Given the description of an element on the screen output the (x, y) to click on. 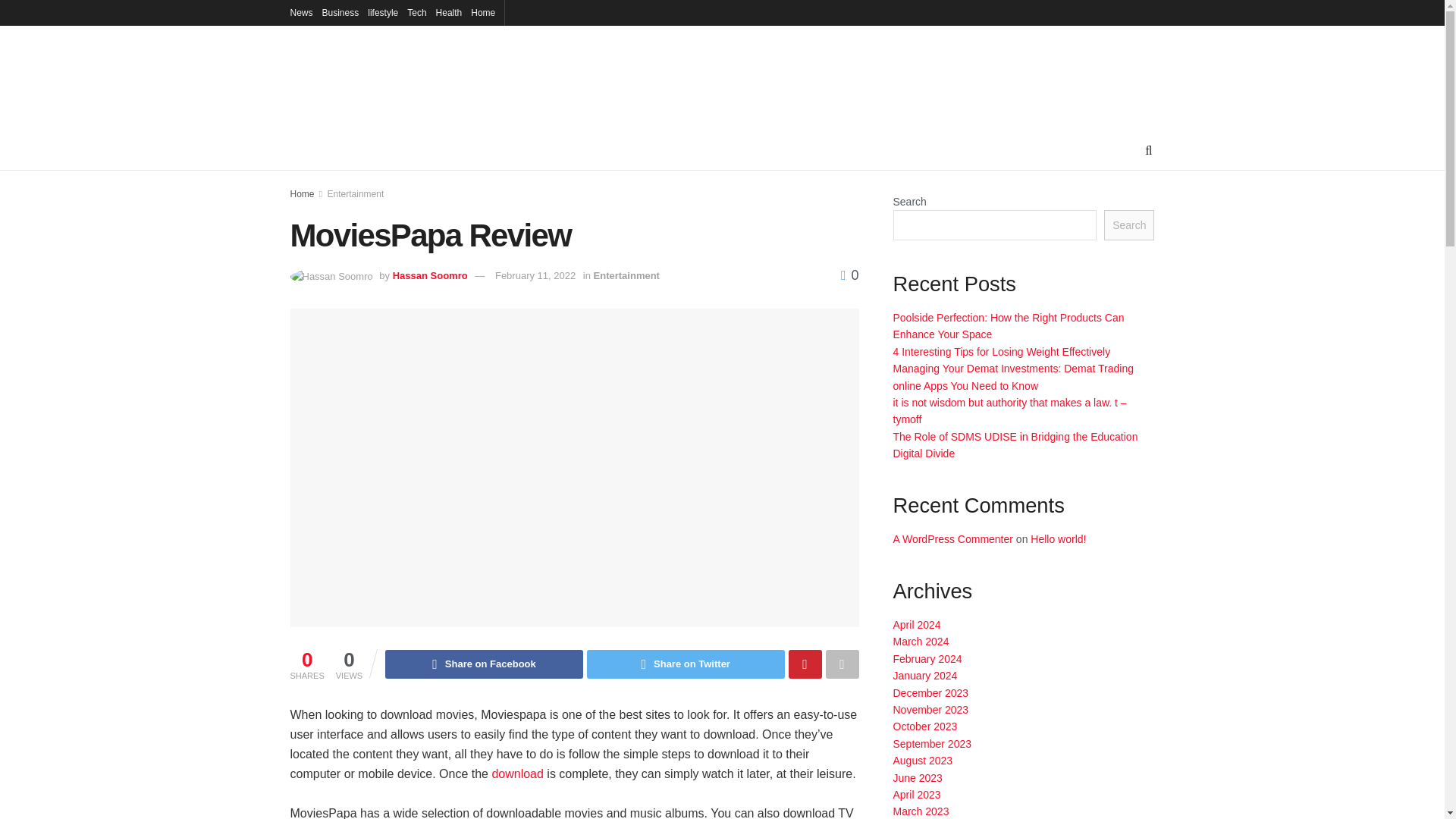
Home (482, 12)
Entertainment (355, 194)
Share on Facebook (484, 664)
Hassan Soomro (430, 275)
lifestyle (382, 12)
Share on Twitter (685, 664)
February 11, 2022 (535, 275)
0 (850, 274)
Business (340, 12)
Health (449, 12)
Entertainment (626, 275)
Tech Daily Pro (429, 78)
Home (301, 194)
